Given the description of an element on the screen output the (x, y) to click on. 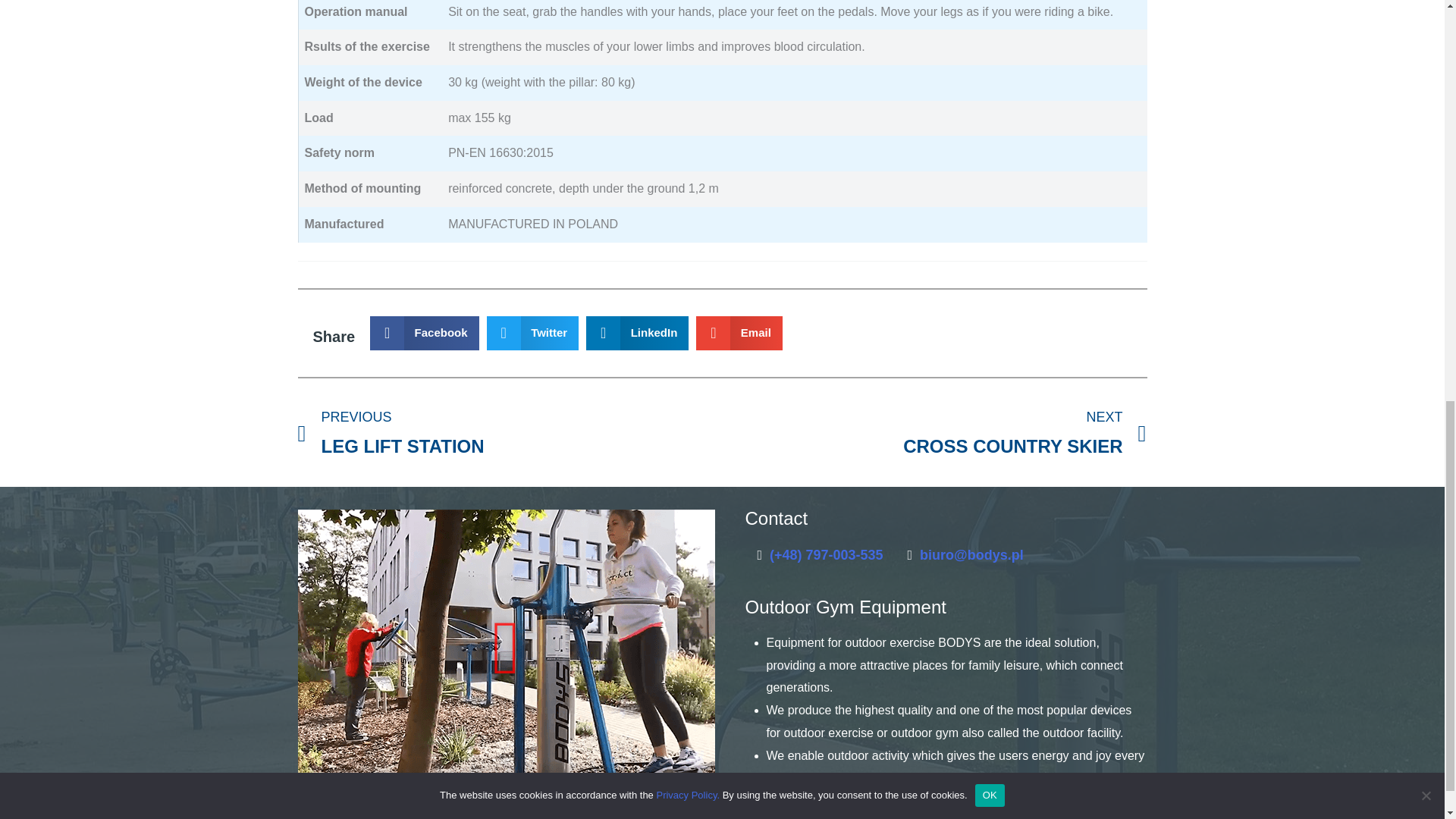
Contact BODYS (971, 554)
